Given the description of an element on the screen output the (x, y) to click on. 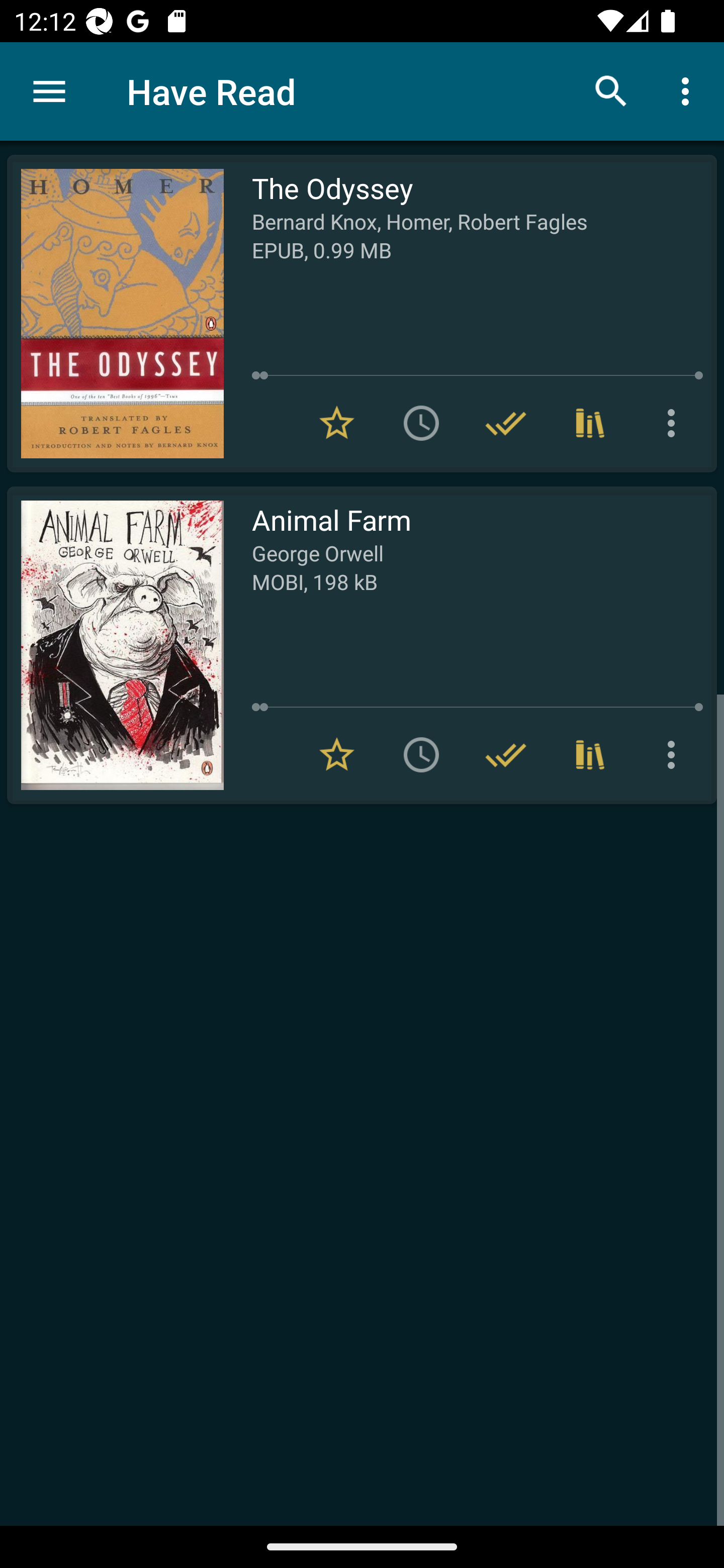
Menu (49, 91)
Search books & documents (611, 90)
More options (688, 90)
Read The Odyssey (115, 313)
Remove from Favorites (336, 423)
Add to To read (421, 423)
Remove from Have read (505, 423)
Collections (2) (590, 423)
More options (674, 423)
Read Animal Farm (115, 645)
Remove from Favorites (336, 753)
Add to To read (421, 753)
Remove from Have read (505, 753)
Collections (1) (590, 753)
More options (674, 753)
